Given the description of an element on the screen output the (x, y) to click on. 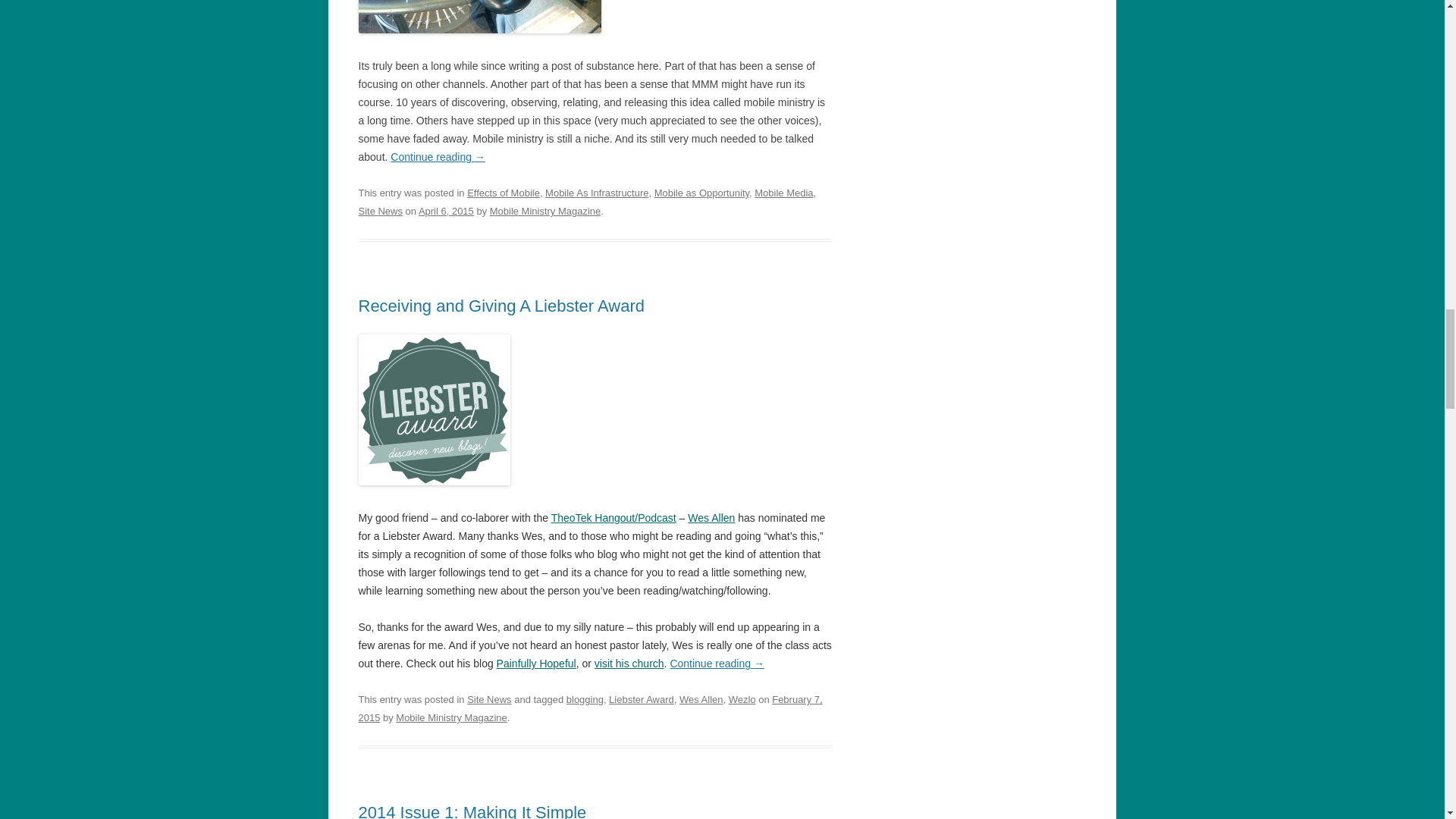
View all posts by Mobile Ministry Magazine (545, 211)
8:00 am (446, 211)
3:12 pm (590, 708)
View all posts by Mobile Ministry Magazine (451, 717)
